Given the description of an element on the screen output the (x, y) to click on. 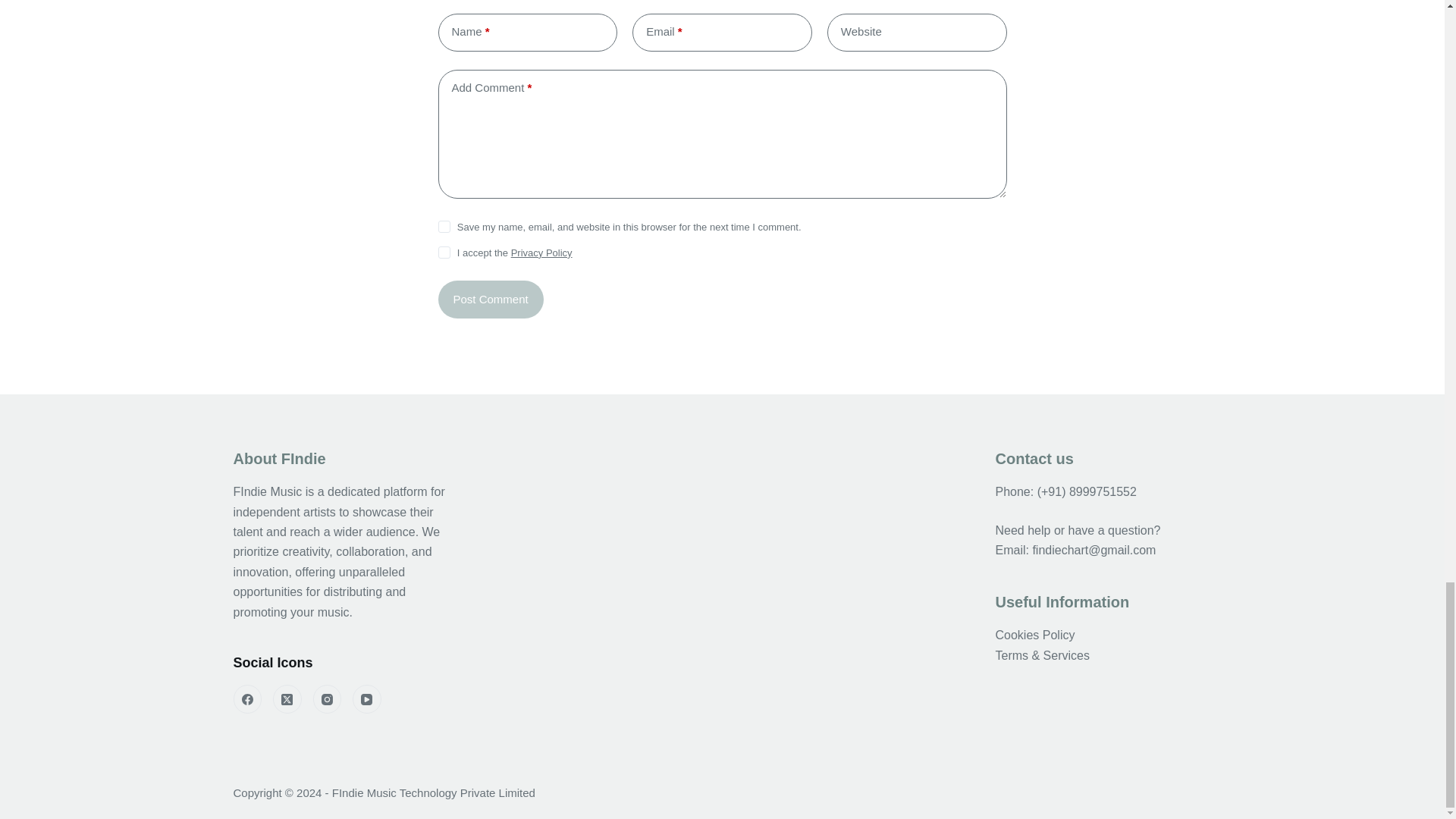
yes (443, 226)
on (443, 252)
Privacy Policy (541, 252)
Cookies Policy (1034, 634)
Post Comment (490, 299)
